Given the description of an element on the screen output the (x, y) to click on. 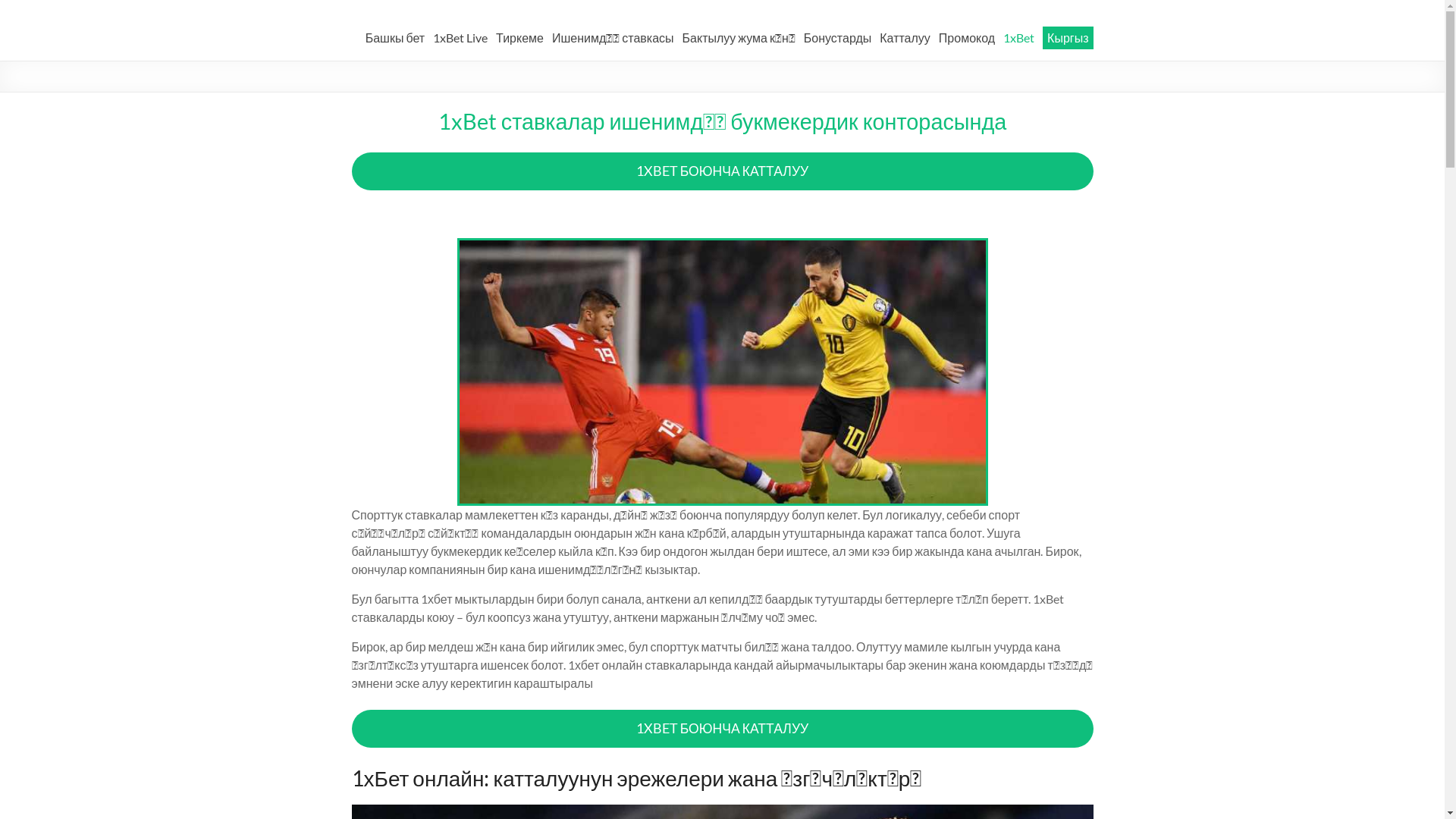
1xBet Element type: text (1018, 37)
1xBet Live Element type: text (460, 37)
https://1xbetkg.com Element type: text (470, 26)
